Given the description of an element on the screen output the (x, y) to click on. 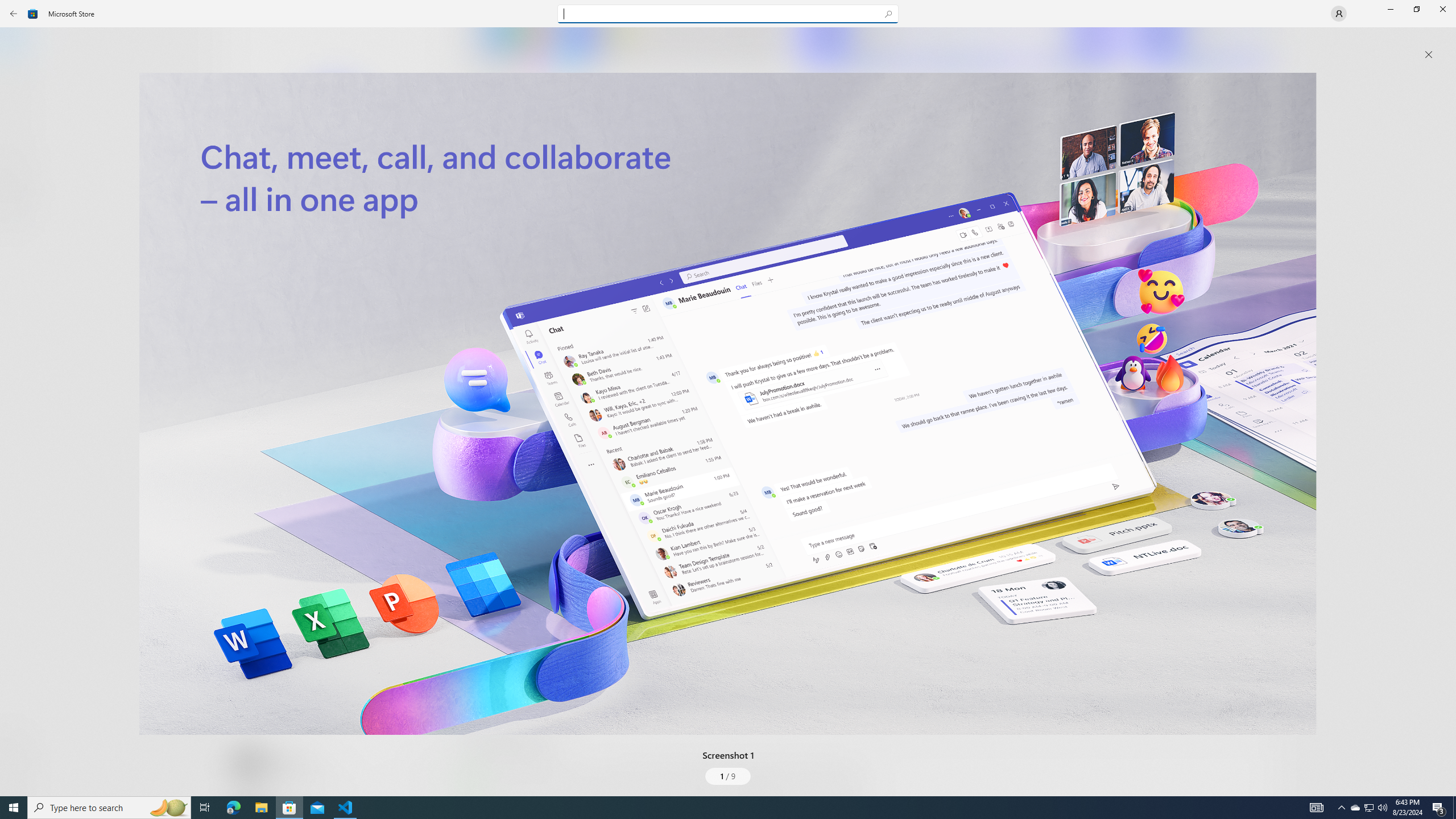
Show all ratings and reviews (1253, 281)
Screenshot 3 (1201, 46)
Show less (482, 703)
Productivity (329, 426)
Show more (485, 793)
Screenshot 1 (727, 403)
Microsoft Corporation (383, 189)
Sign in to review (501, 379)
